Given the description of an element on the screen output the (x, y) to click on. 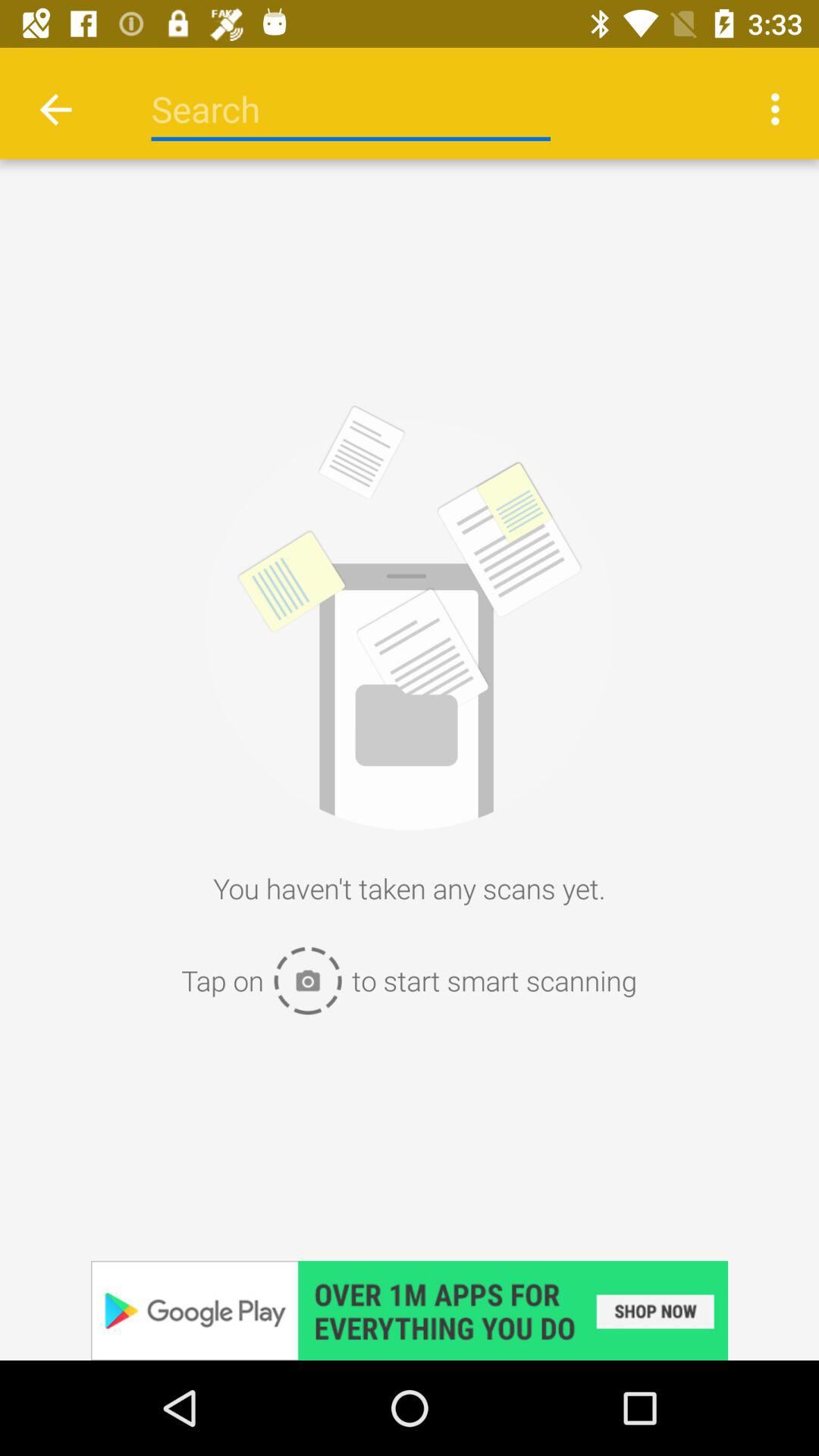
search for scans (350, 109)
